Given the description of an element on the screen output the (x, y) to click on. 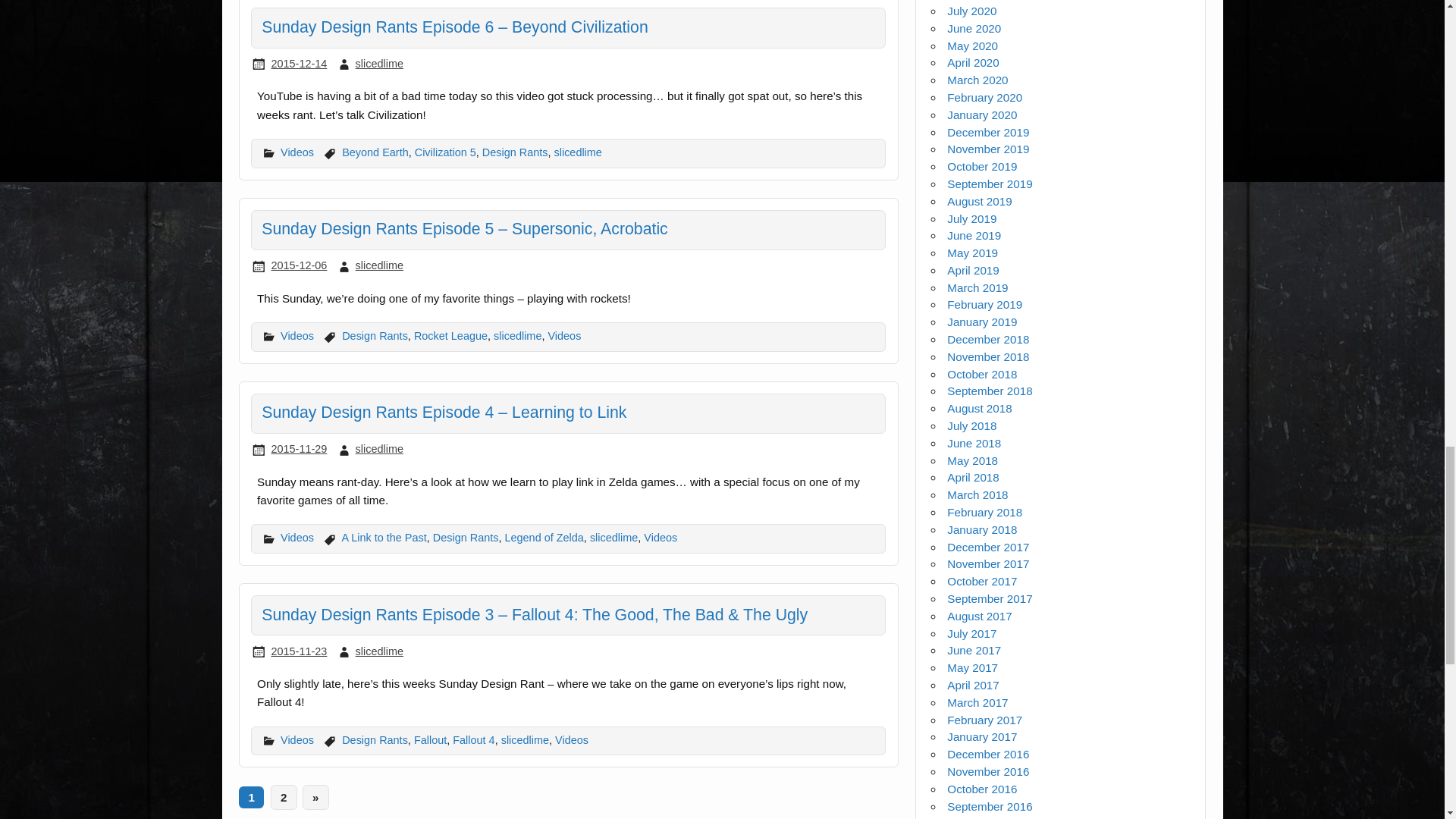
02:06 (298, 63)
View all posts by slicedlime (379, 63)
19:06 (298, 265)
